Given the description of an element on the screen output the (x, y) to click on. 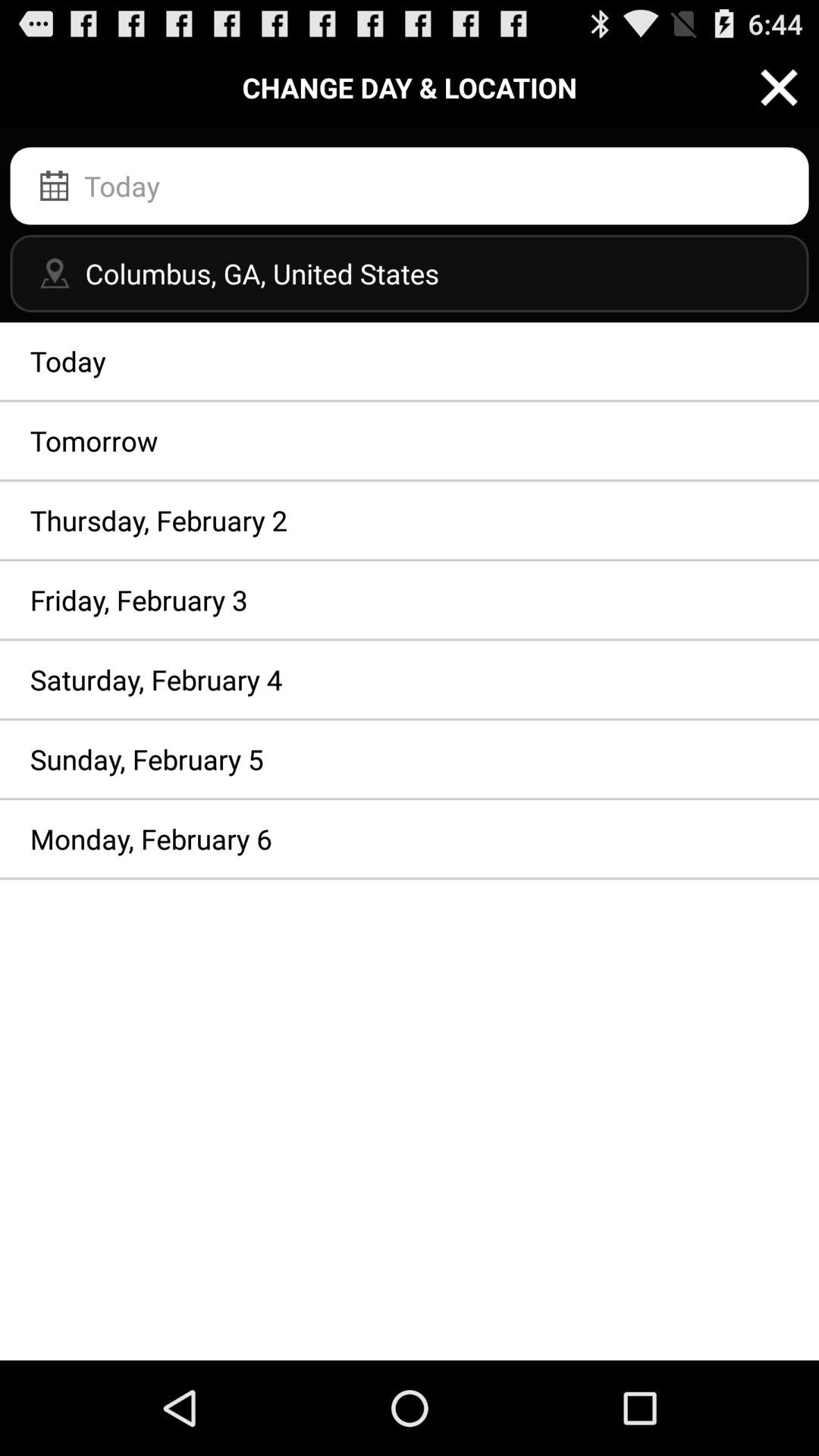
swipe until the tomorrow app (409, 440)
